Given the description of an element on the screen output the (x, y) to click on. 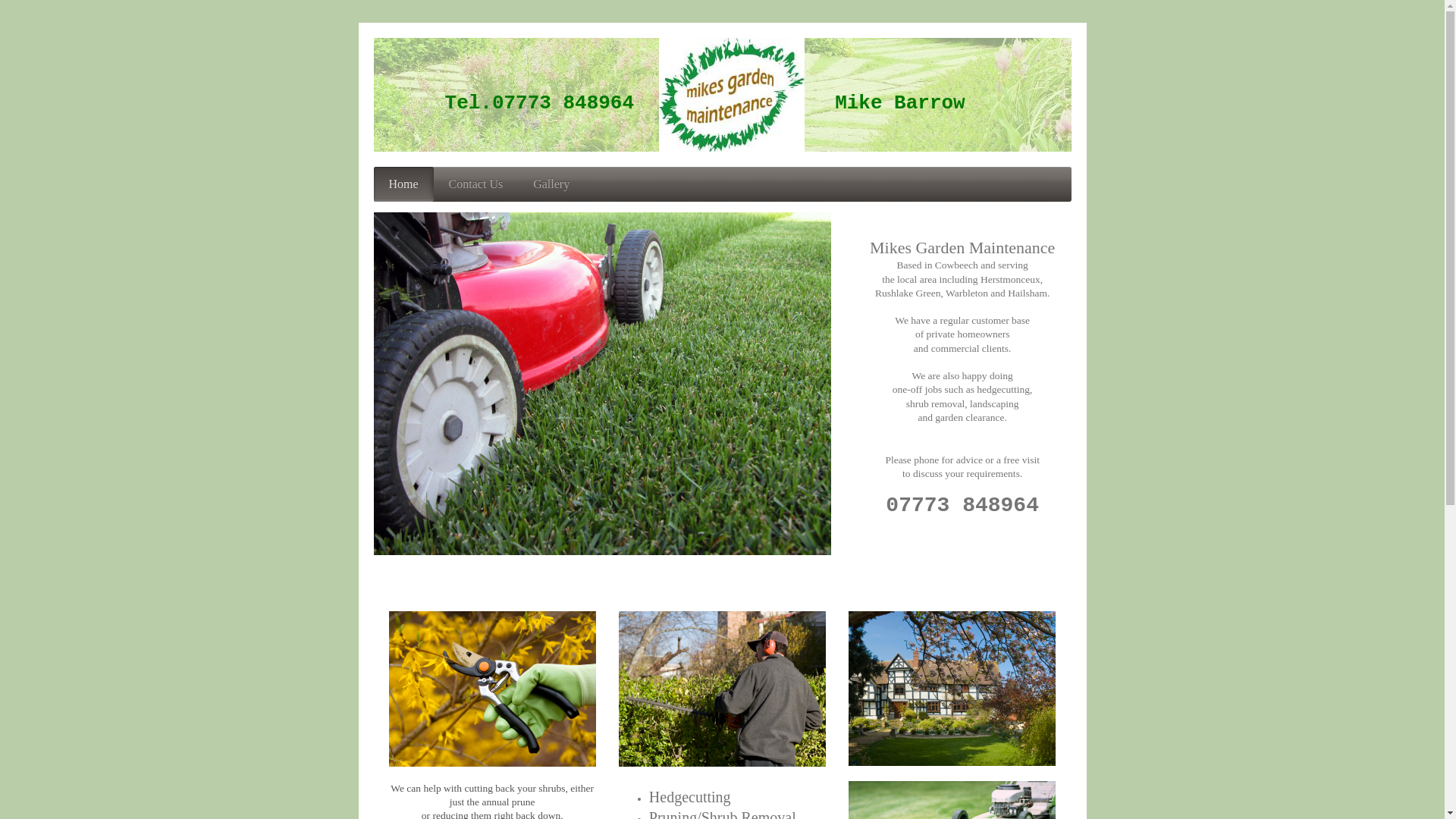
Contact Us (475, 184)
Home (402, 184)
Gallery (551, 184)
